Given the description of an element on the screen output the (x, y) to click on. 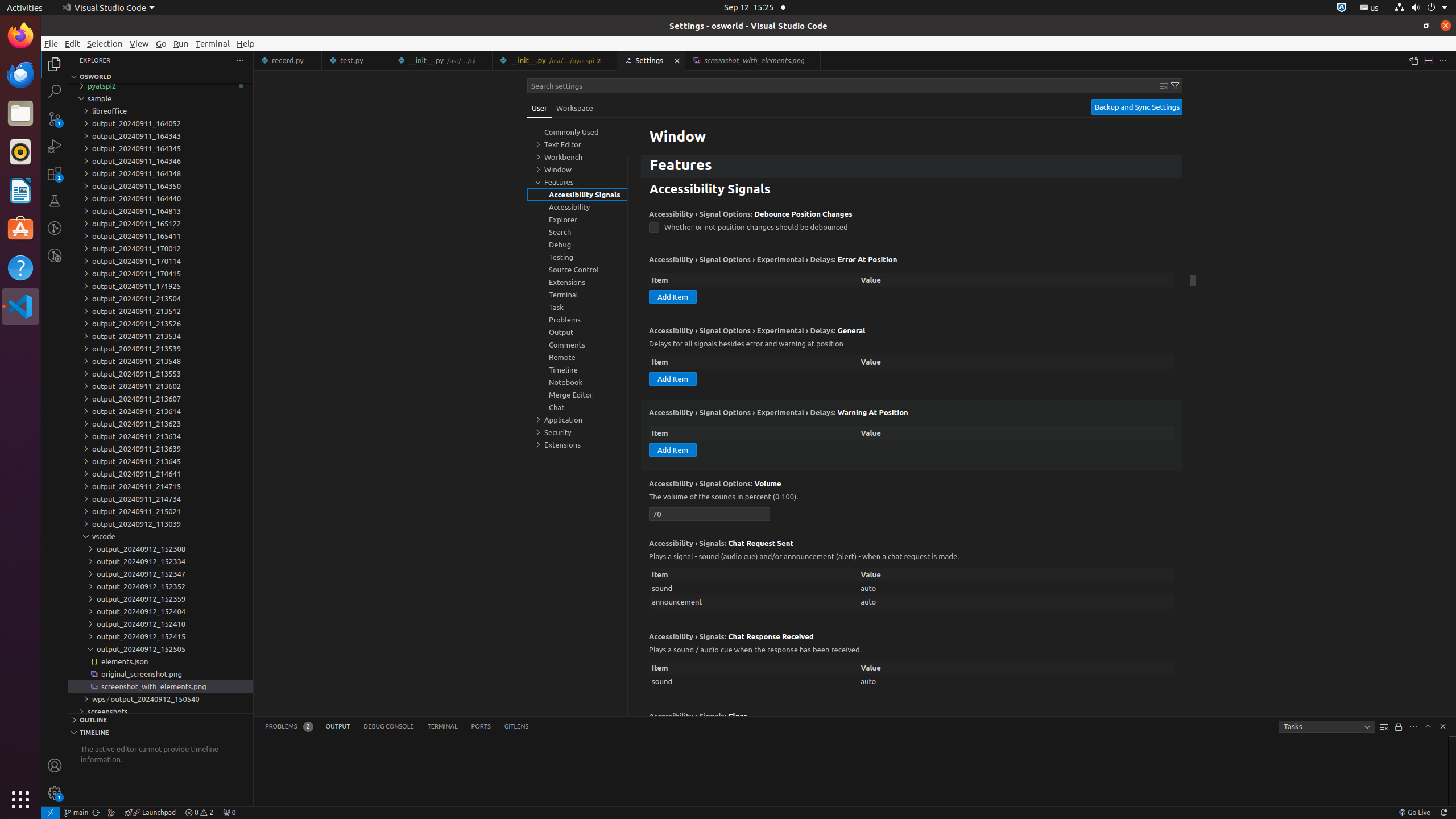
The property `sound` is set to `auto`. Element type: list-item (911, 680)
output_20240911_164346 Element type: tree-item (160, 160)
output_20240912_152334 Element type: tree-item (160, 561)
Split Editor Right (Ctrl+\) [Alt] Split Editor Down Element type: push-button (1427, 60)
output_20240911_213623 Element type: tree-item (160, 423)
